Given the description of an element on the screen output the (x, y) to click on. 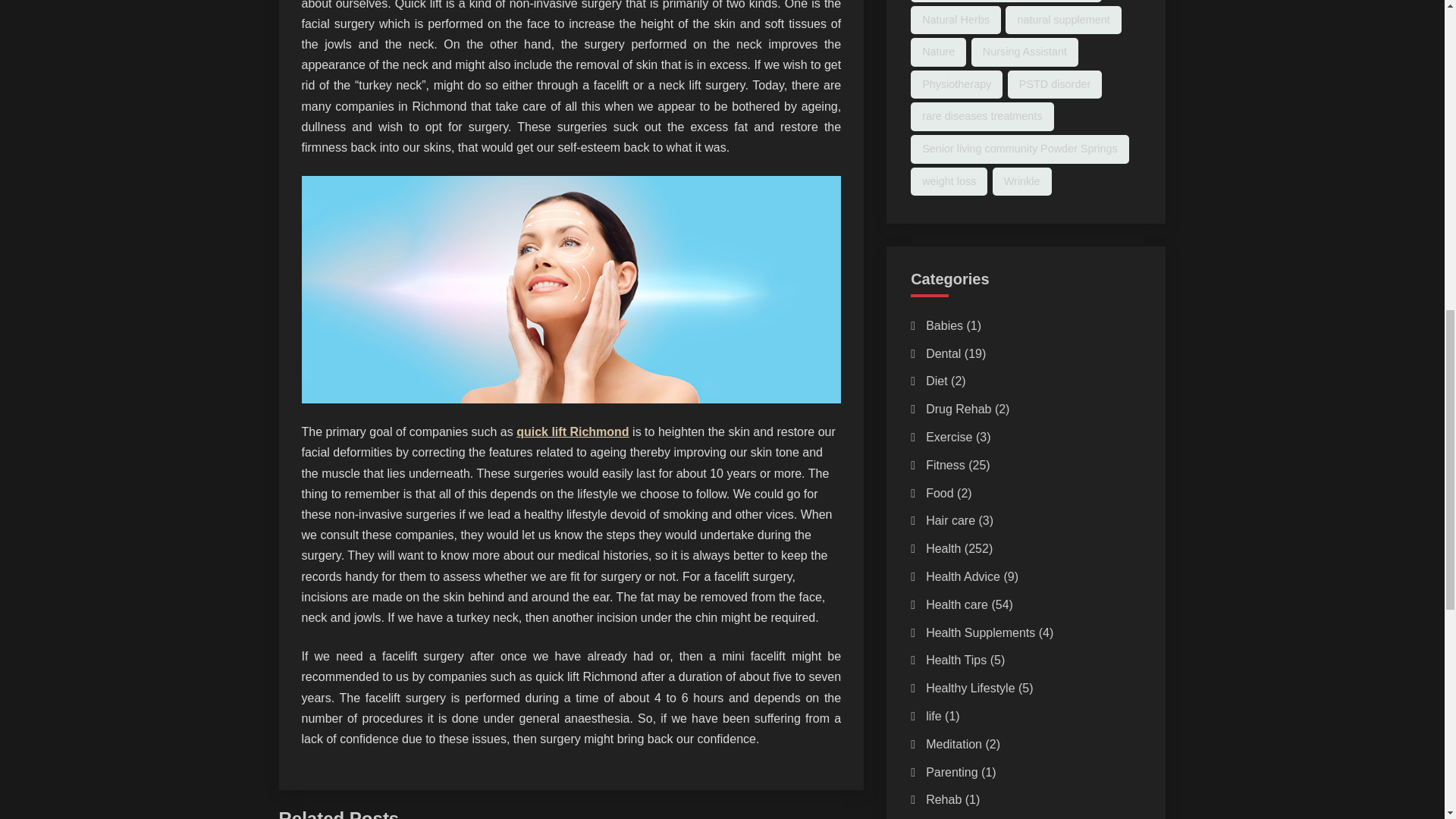
quick lift Richmond (572, 431)
